Given the description of an element on the screen output the (x, y) to click on. 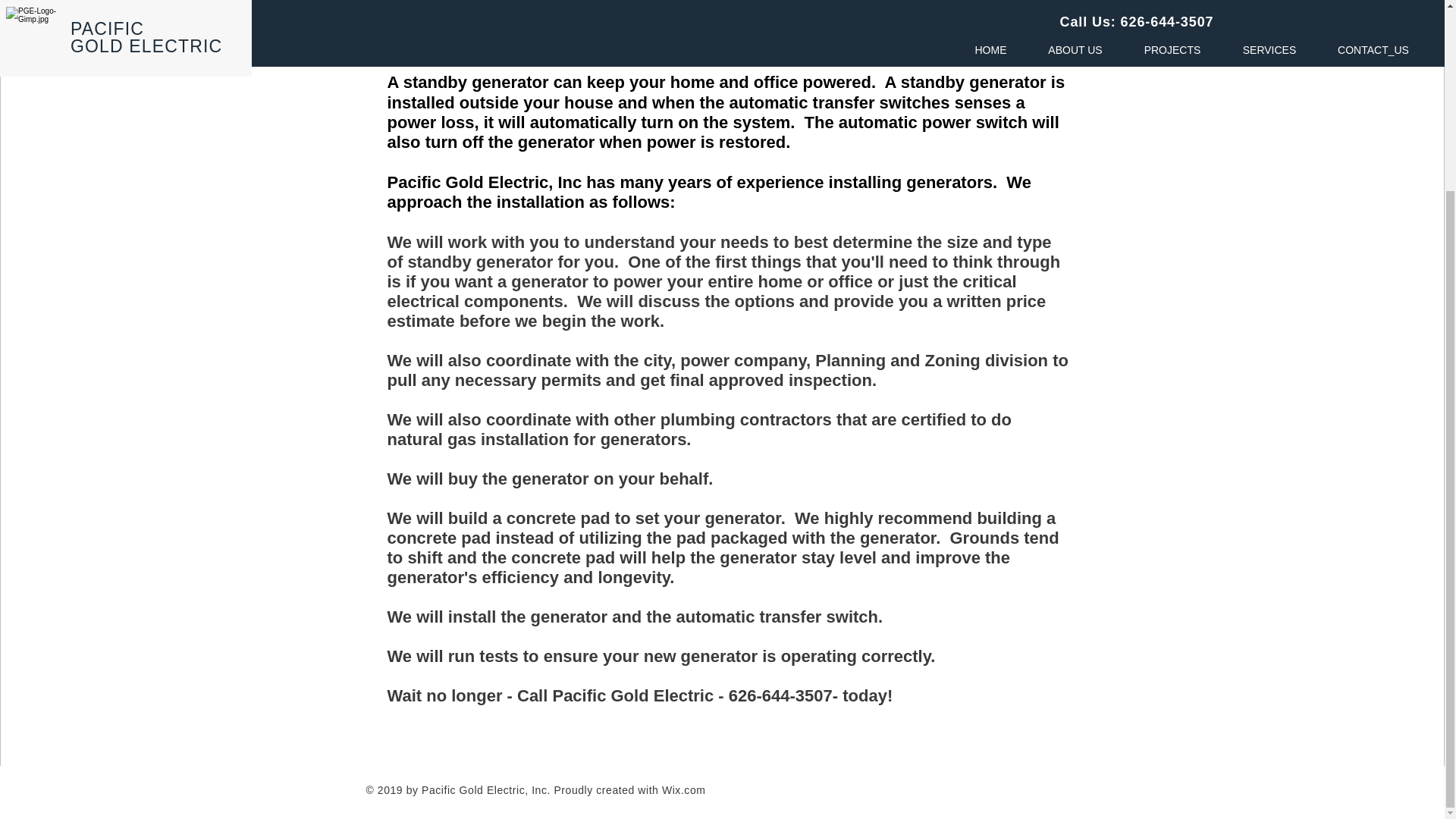
Wix.com (684, 789)
